Given the description of an element on the screen output the (x, y) to click on. 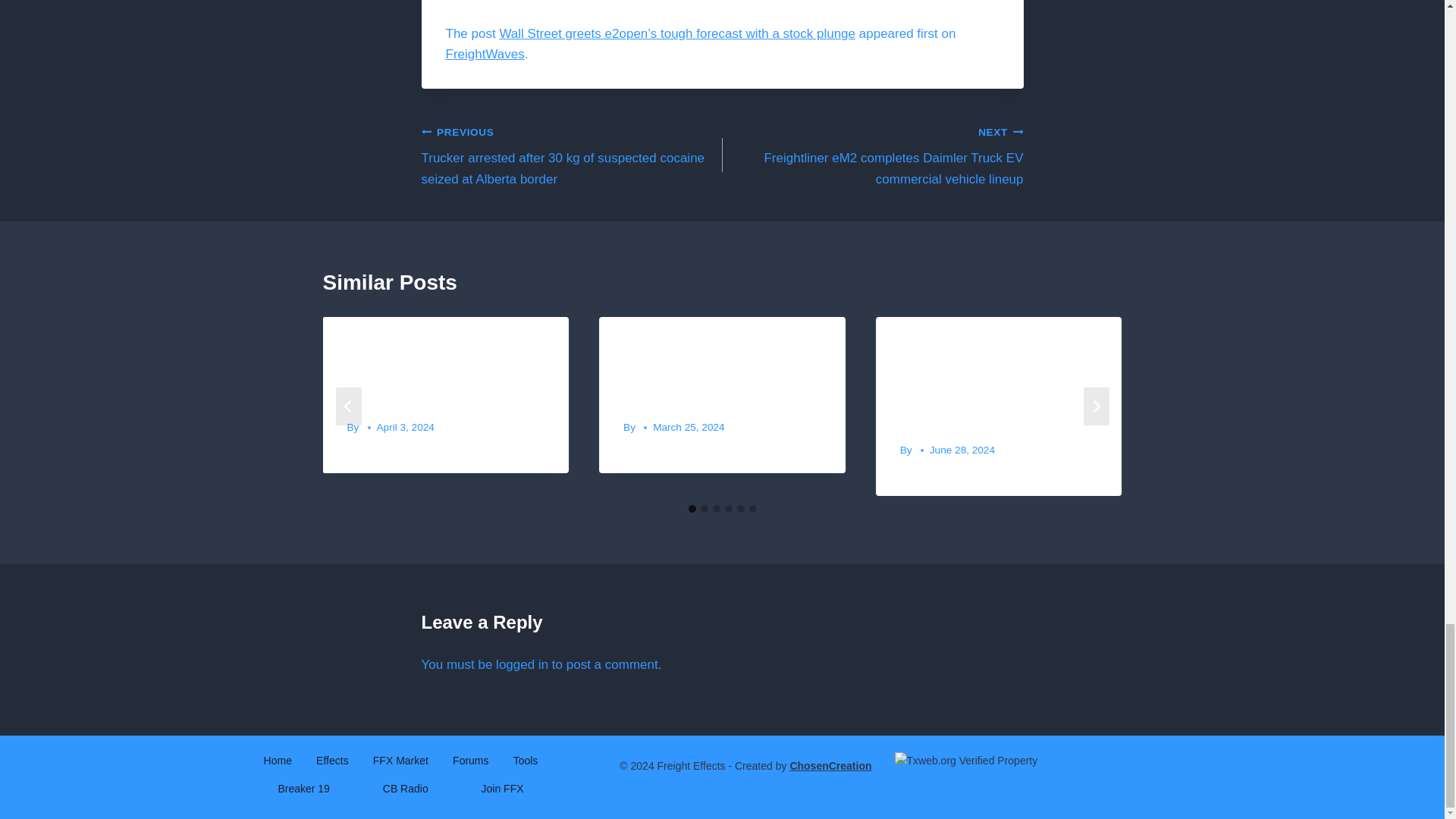
FreightWaves (484, 53)
